Given the description of an element on the screen output the (x, y) to click on. 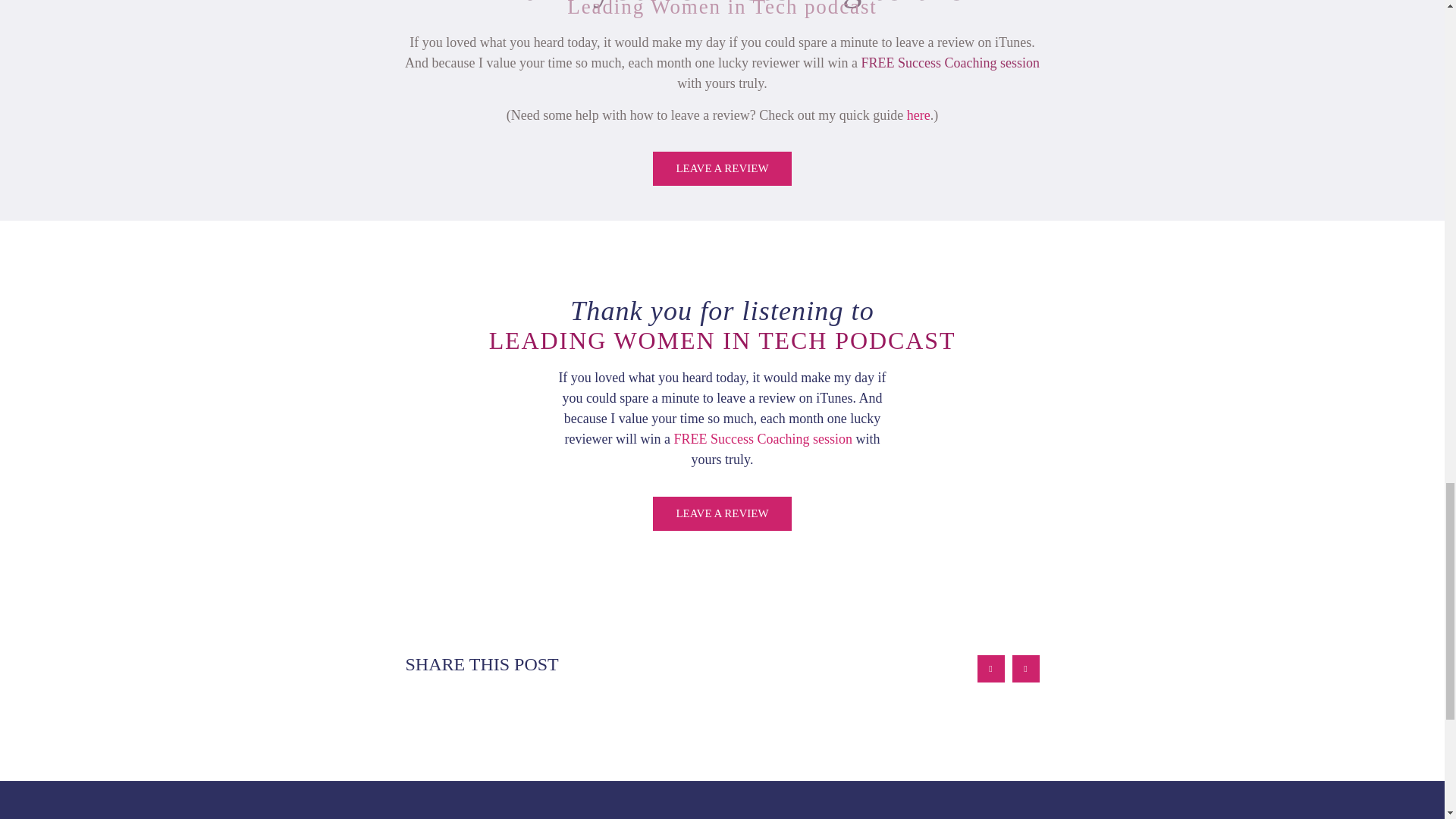
LEAVE A REVIEW (721, 168)
here (918, 114)
About (692, 815)
Contact (746, 815)
LEAVE A REVIEW (721, 513)
